Given the description of an element on the screen output the (x, y) to click on. 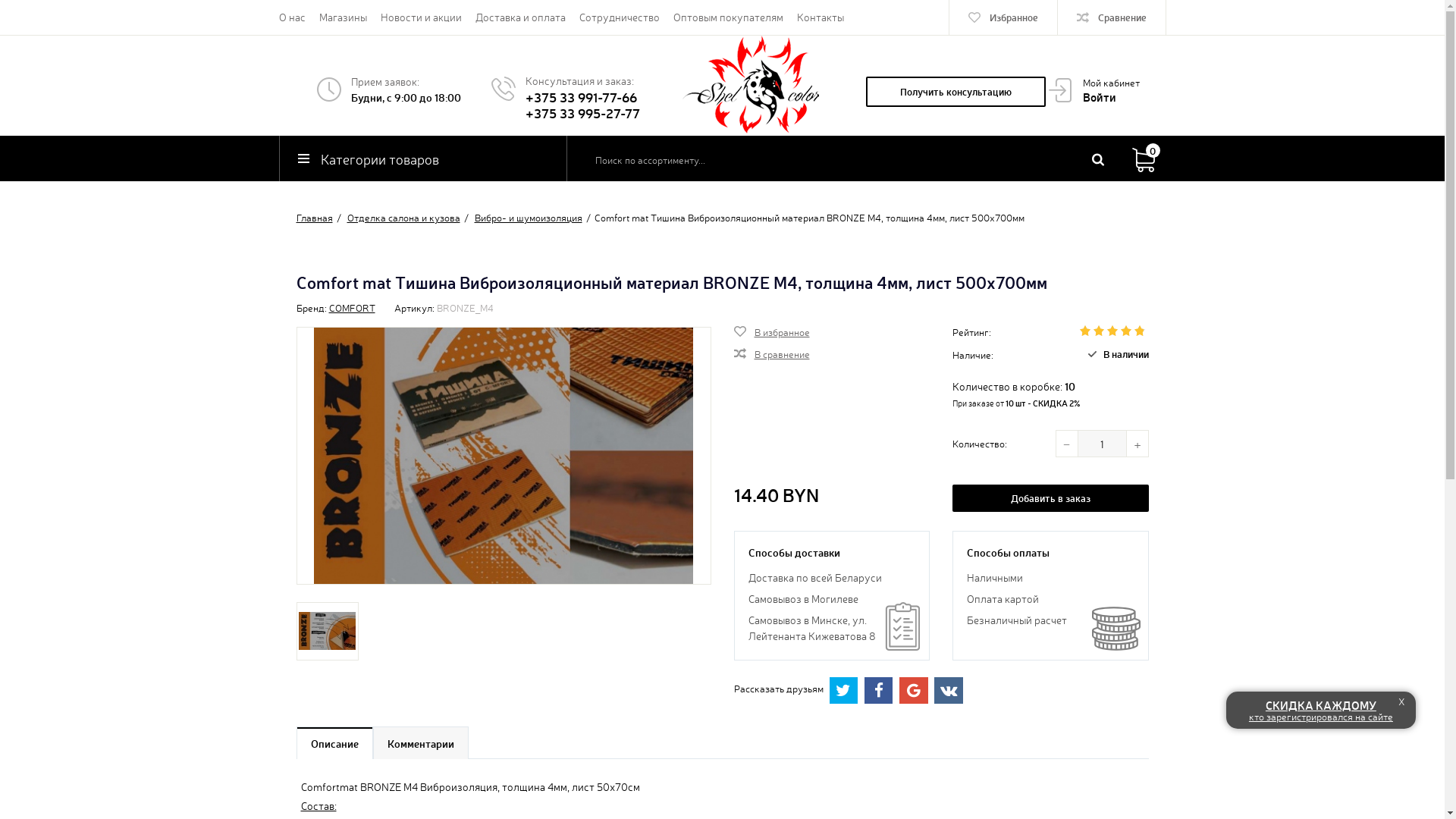
COMFORT Element type: text (352, 307)
+375 33 995-27-77 Element type: text (581, 112)
+375 33 991-77-66 Element type: text (580, 96)
X Element type: text (1402, 701)
